Given the description of an element on the screen output the (x, y) to click on. 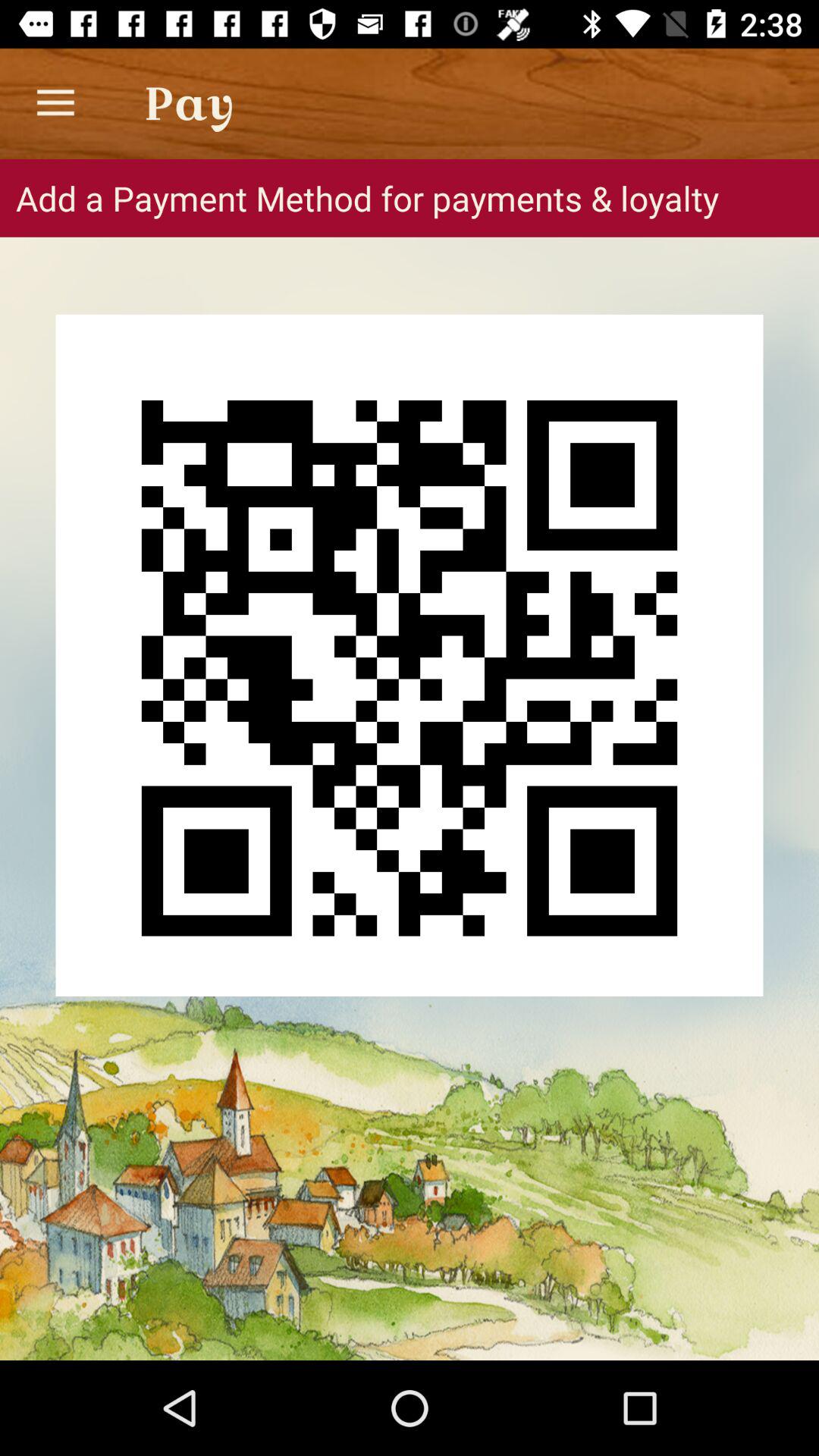
scroll to add a payment (409, 198)
